Given the description of an element on the screen output the (x, y) to click on. 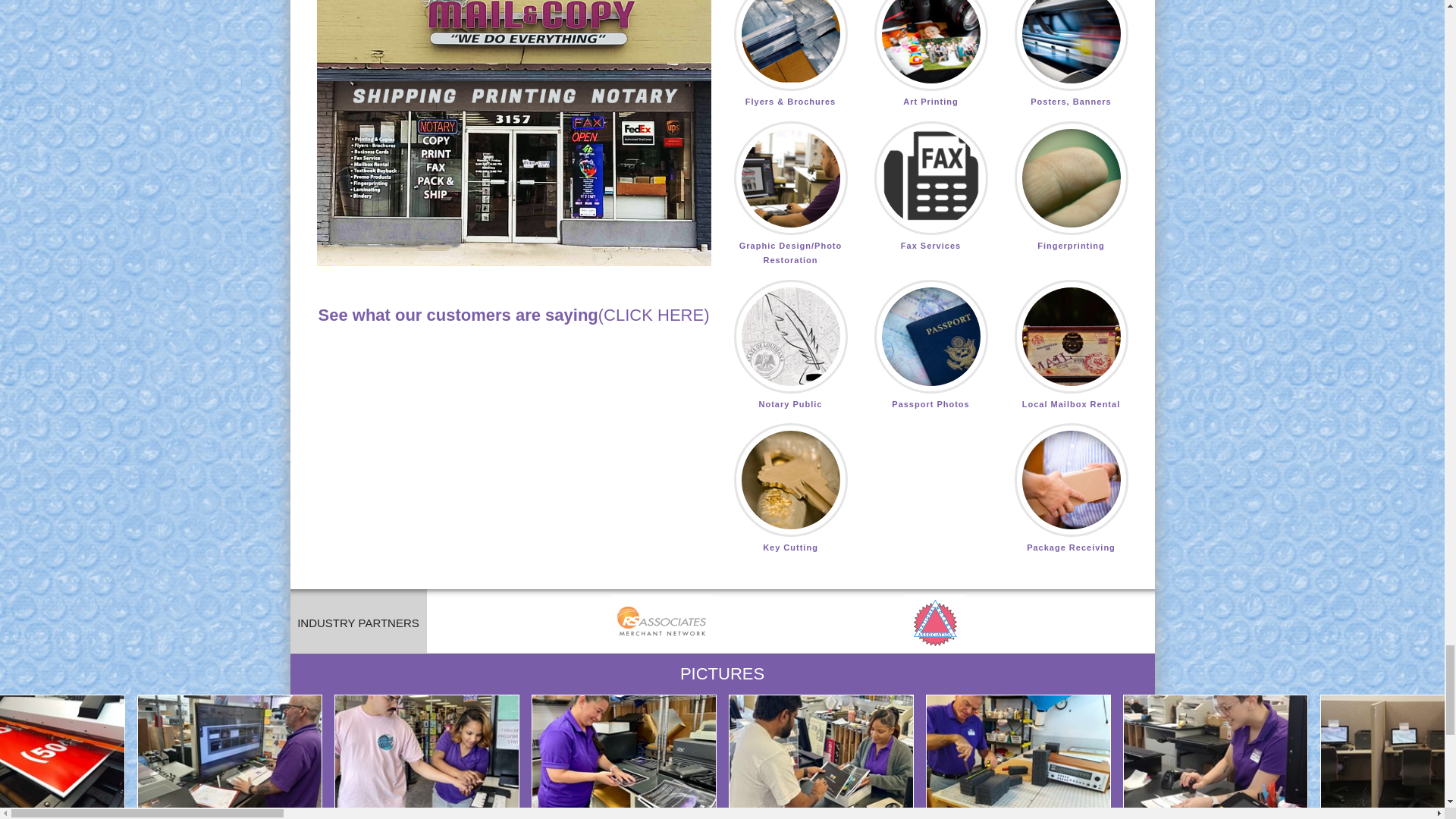
Retail Shipping Associates, opens in new window (662, 622)
National Notary Association, opens in new window (935, 622)
Customer Support at gentilly mail and copy center (514, 133)
